Given the description of an element on the screen output the (x, y) to click on. 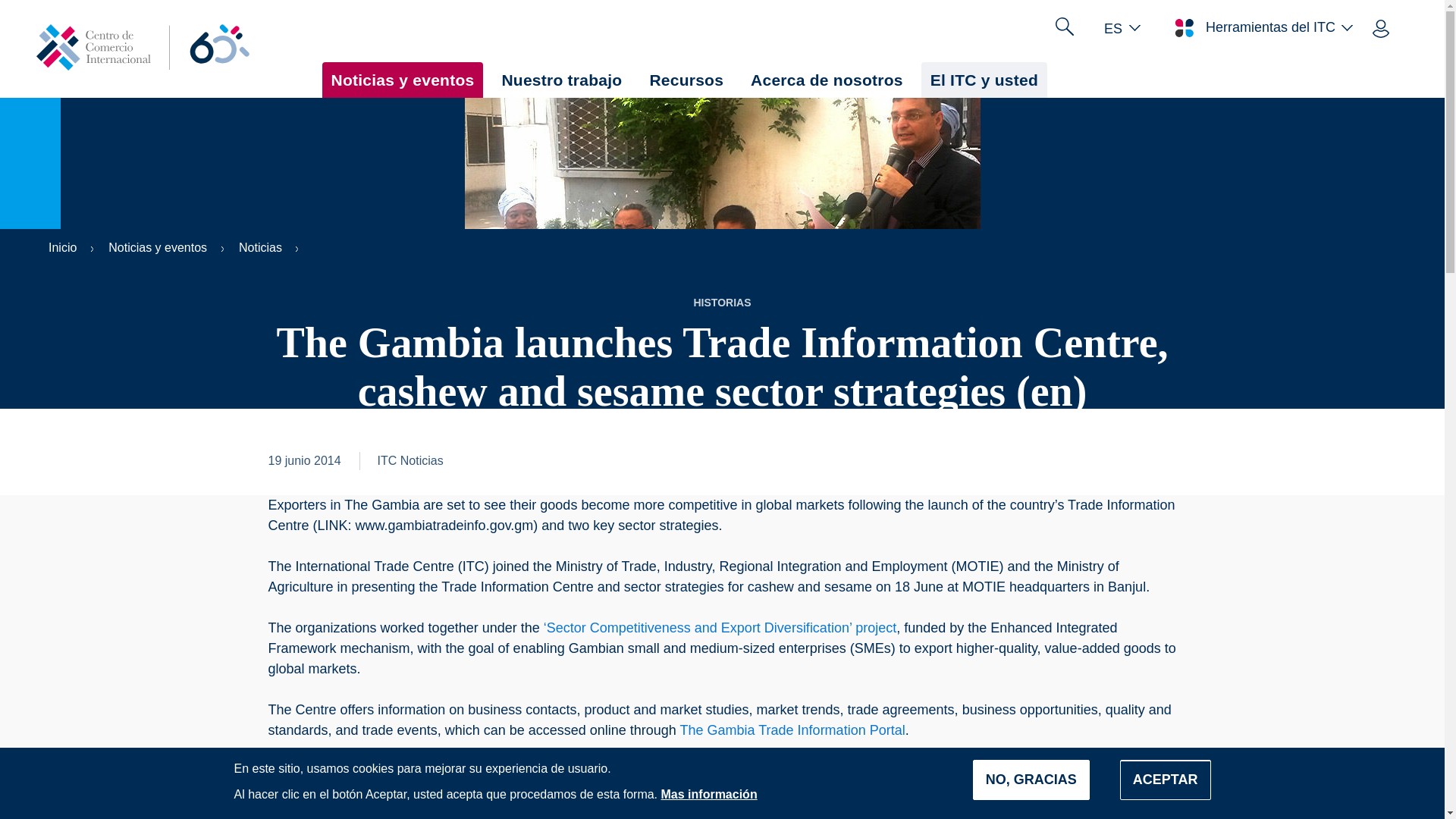
NO, GRACIAS (1030, 780)
ACEPTAR (1165, 780)
